Given the description of an element on the screen output the (x, y) to click on. 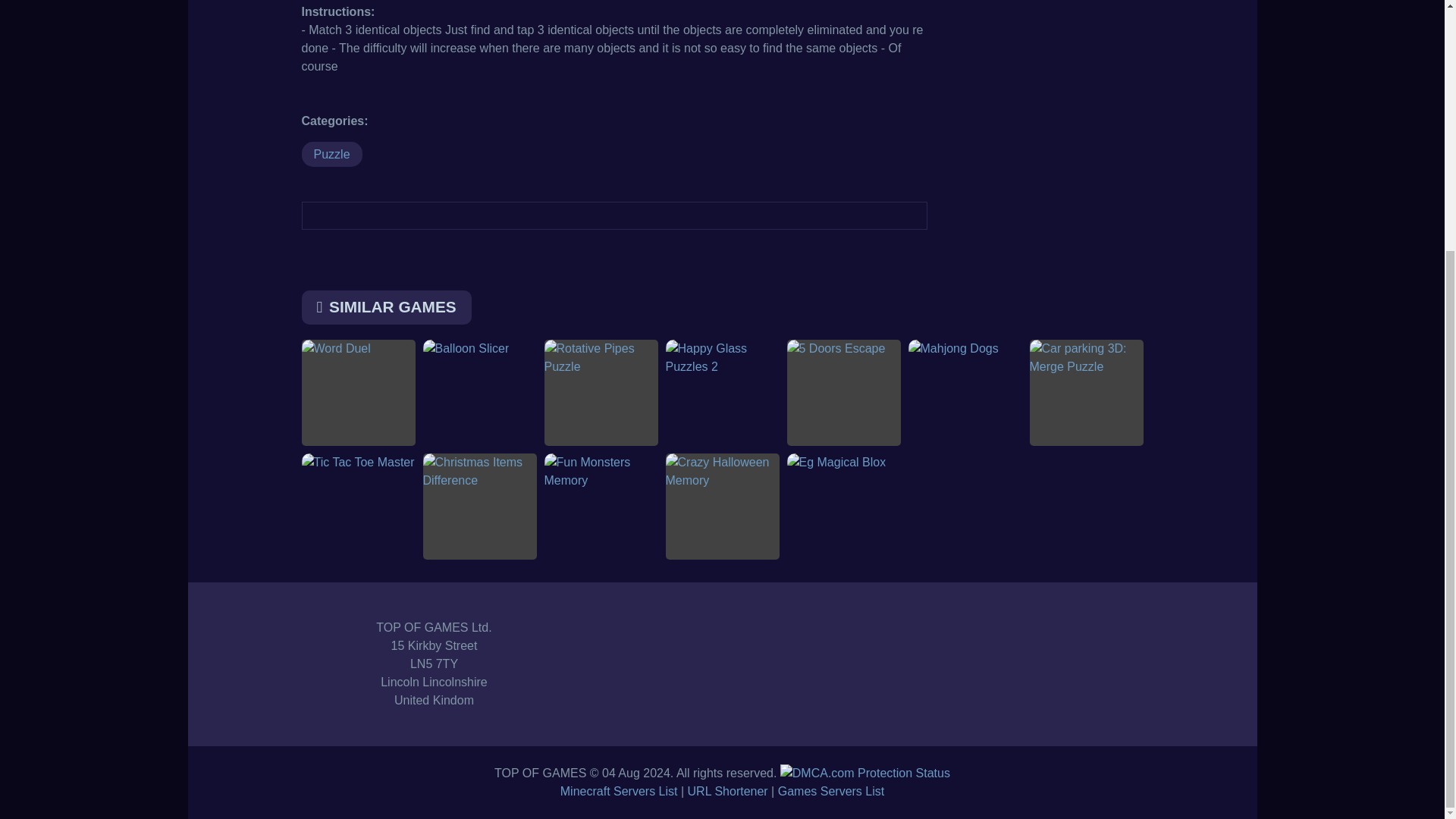
Free Minecraft Servers List (619, 790)
DMCA.com Protection Status (865, 772)
Free URL Shortener (727, 790)
Games Servers List (830, 790)
